Given the description of an element on the screen output the (x, y) to click on. 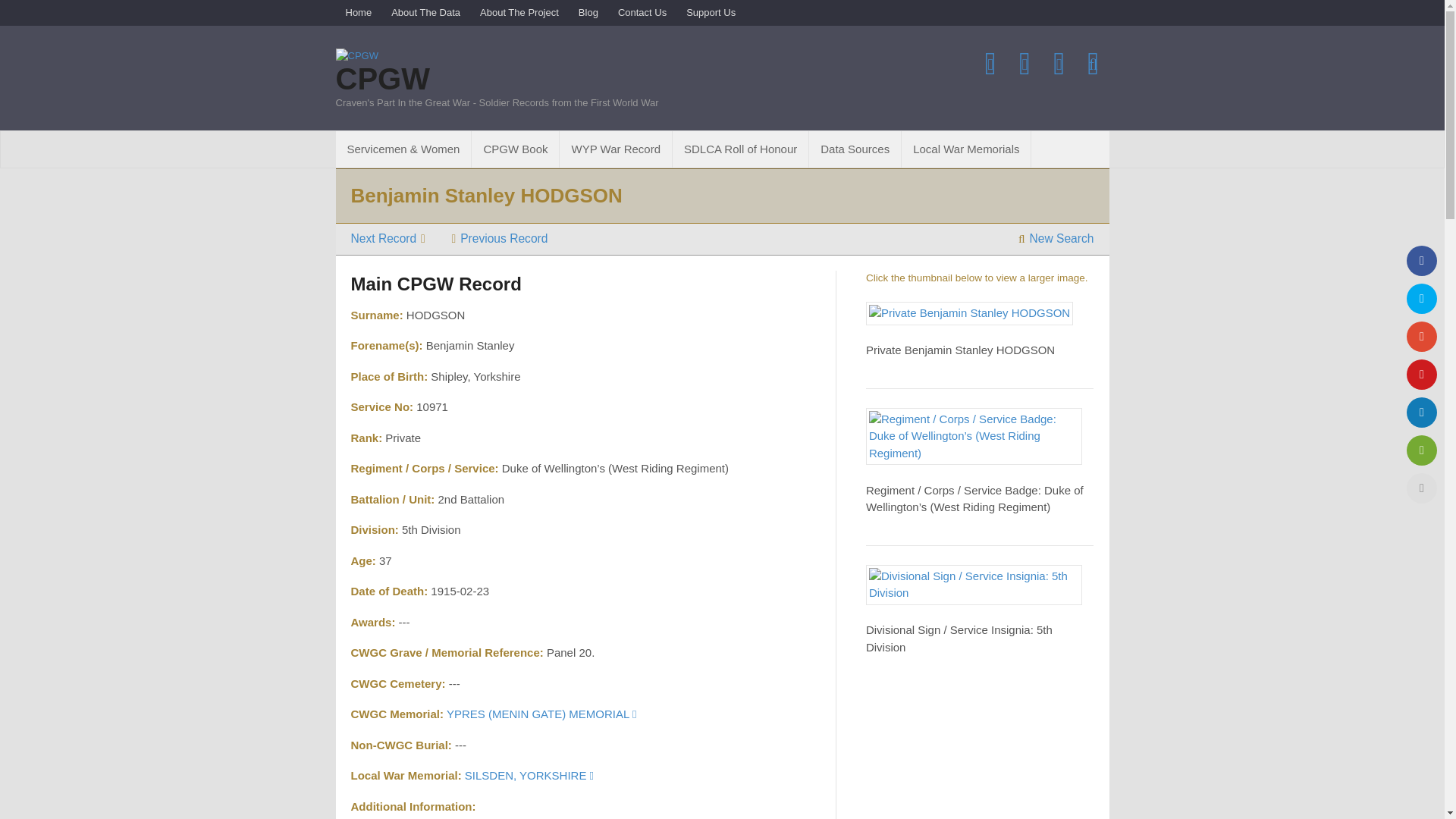
About The Data (425, 12)
SDLCA Roll of Honour (740, 149)
New Search (1055, 237)
Edgar Bradley HODGSON (387, 237)
CPGW Book (515, 149)
Previous Record (499, 237)
Home (357, 12)
John Thomas HODGE (499, 237)
WYP War Record (615, 149)
Data Sources (855, 149)
Next Record (387, 237)
CPGW (381, 78)
SILSDEN, YORKSHIRE (529, 775)
About The Project (519, 12)
